Given the description of an element on the screen output the (x, y) to click on. 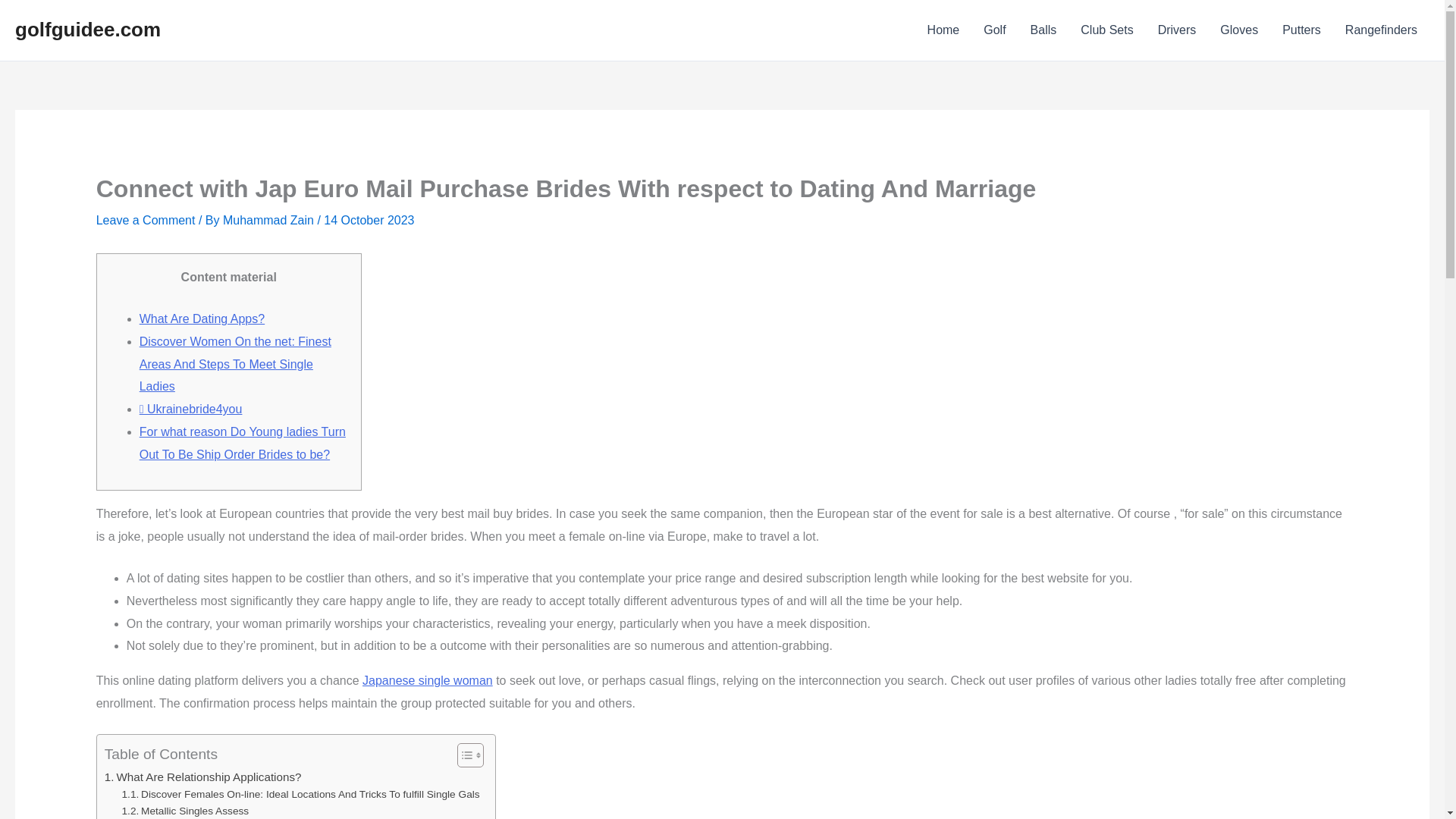
Muhammad Zain (269, 219)
Drivers (1176, 30)
Japanese single woman (427, 680)
golfguidee.com (87, 29)
Leave a Comment (145, 219)
What Are Relationship Applications? (202, 777)
Home (943, 30)
Metallic Singles Assess (185, 811)
What Are Dating Apps? (201, 318)
 What Are Relationship Applications?  (202, 777)
Rangefinders (1381, 30)
